Given the description of an element on the screen output the (x, y) to click on. 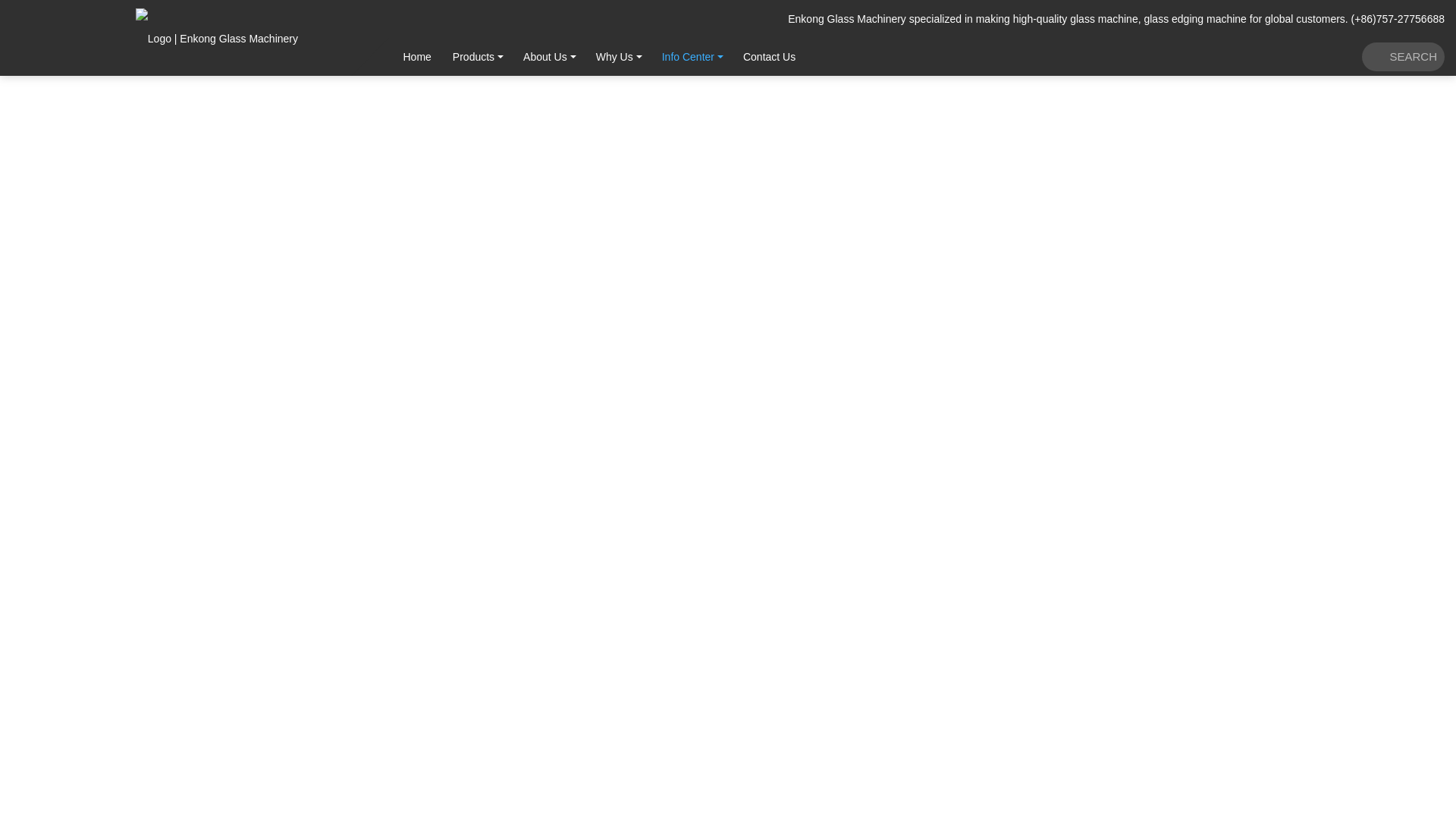
Contact Us (769, 56)
Products (473, 56)
Home (417, 56)
Why Us (614, 56)
Info Center (687, 56)
About Us (545, 56)
